Given the description of an element on the screen output the (x, y) to click on. 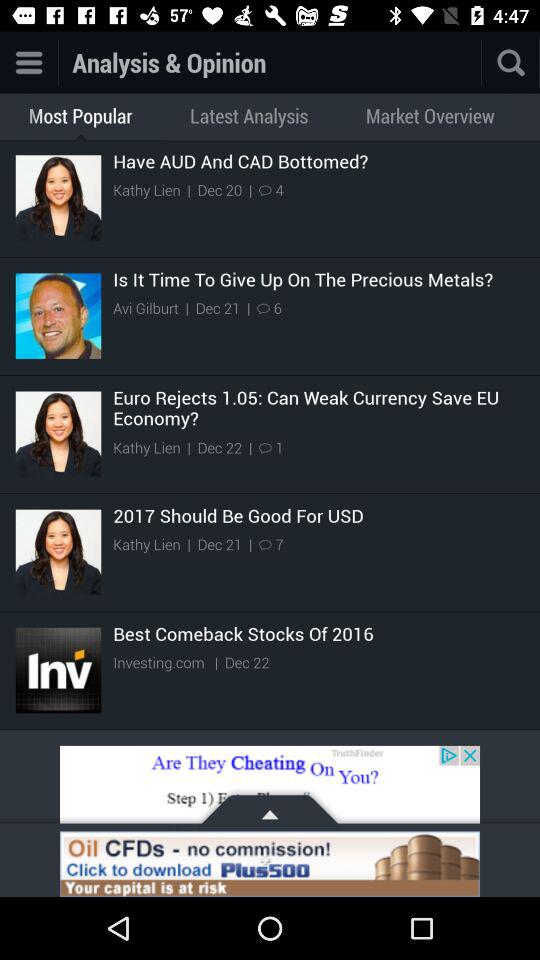
go to menu option (28, 62)
